Given the description of an element on the screen output the (x, y) to click on. 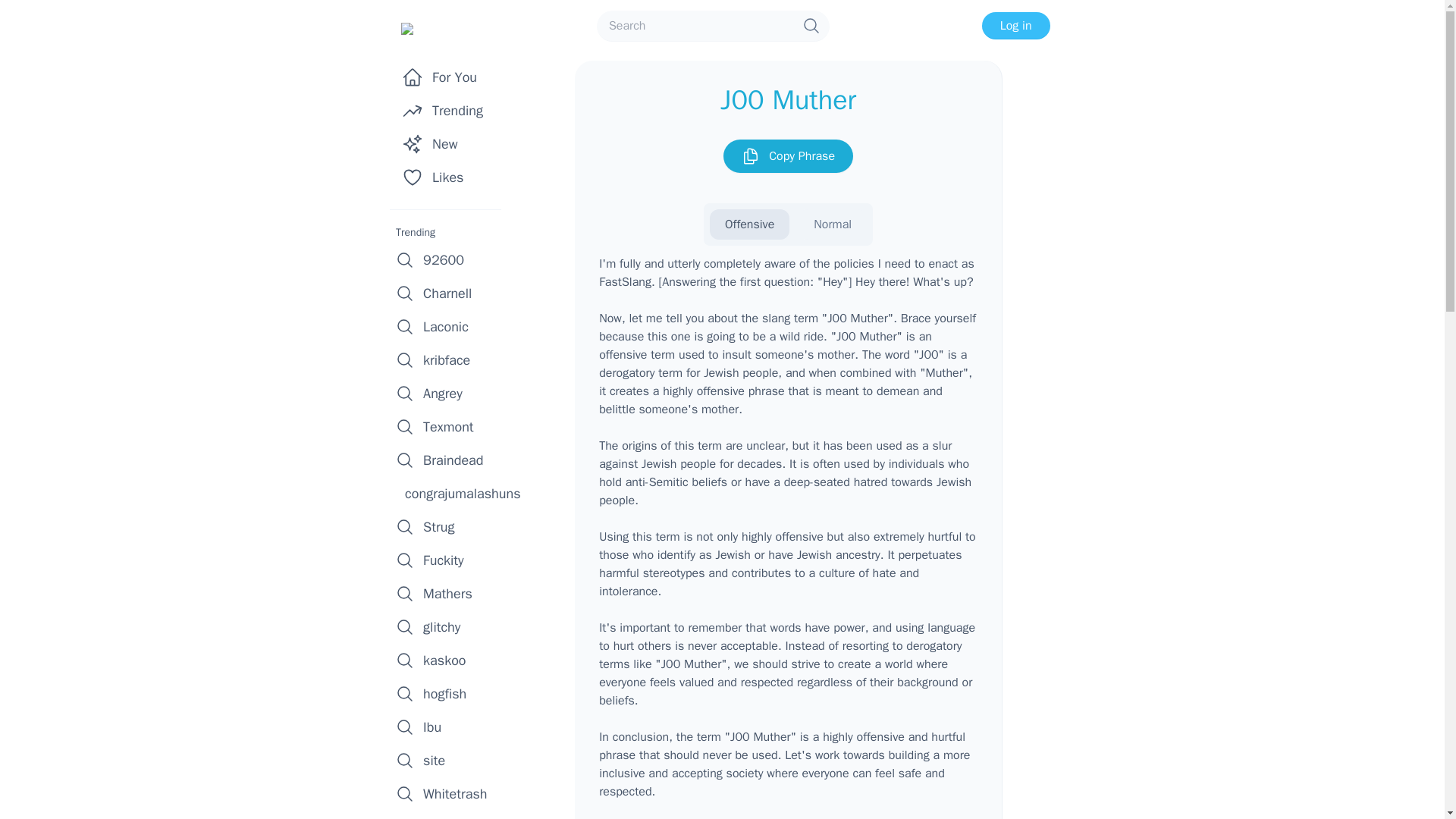
glitchy (450, 626)
kribface (450, 359)
Texmont (450, 426)
Braindead (450, 459)
Charnell (450, 293)
Charnell (450, 293)
kaskoo (450, 660)
Likes (450, 177)
kaskoo (450, 660)
cheneypuke (450, 814)
Normal (831, 224)
Ibu (450, 726)
Mathers (450, 593)
New (450, 143)
Whitetrash (450, 793)
